Given the description of an element on the screen output the (x, y) to click on. 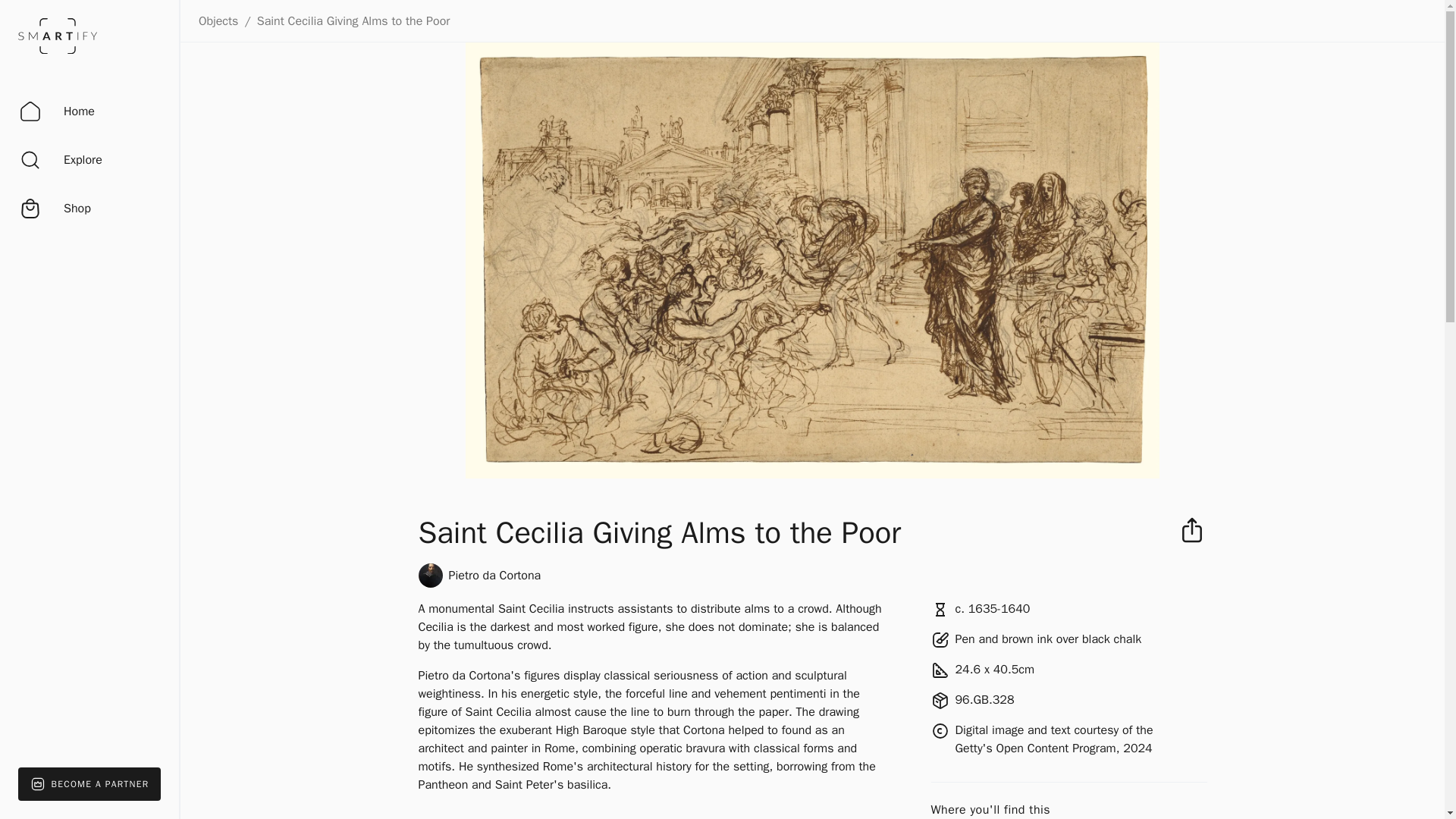
Explore (60, 159)
Shop (54, 208)
Objects (218, 21)
BECOME A PARTNER (89, 783)
Home (55, 111)
Pietro da Cortona (494, 575)
